Given the description of an element on the screen output the (x, y) to click on. 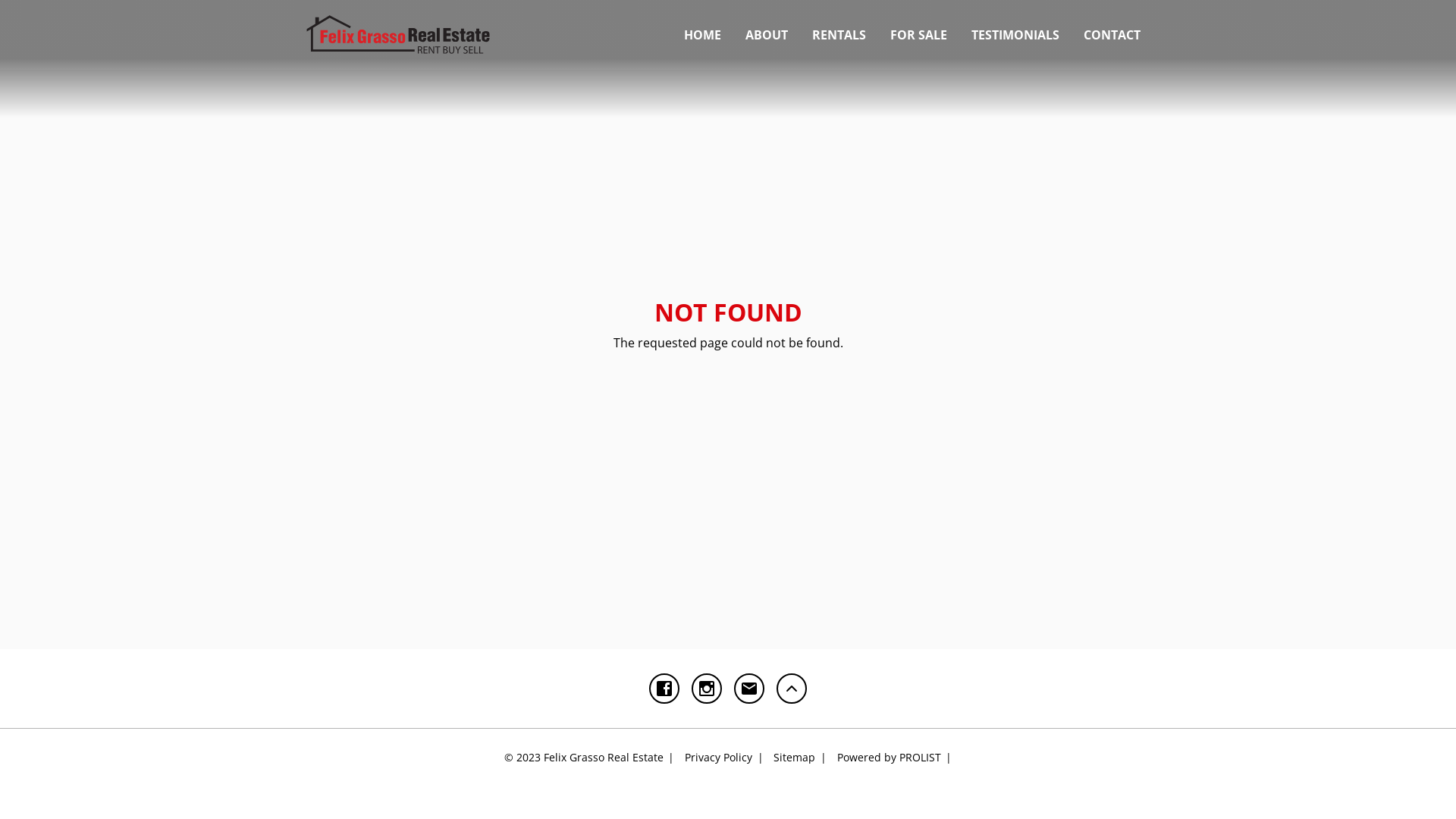
Sitemap Element type: text (799, 756)
HOME Element type: text (702, 34)
FOR SALE Element type: text (918, 34)
CONTACT Element type: text (1111, 34)
ABOUT Element type: text (766, 34)
TESTIMONIALS Element type: text (1015, 34)
Privacy Policy Element type: text (723, 756)
Powered by PROLIST Element type: text (894, 756)
RENTALS Element type: text (839, 34)
